Given the description of an element on the screen output the (x, y) to click on. 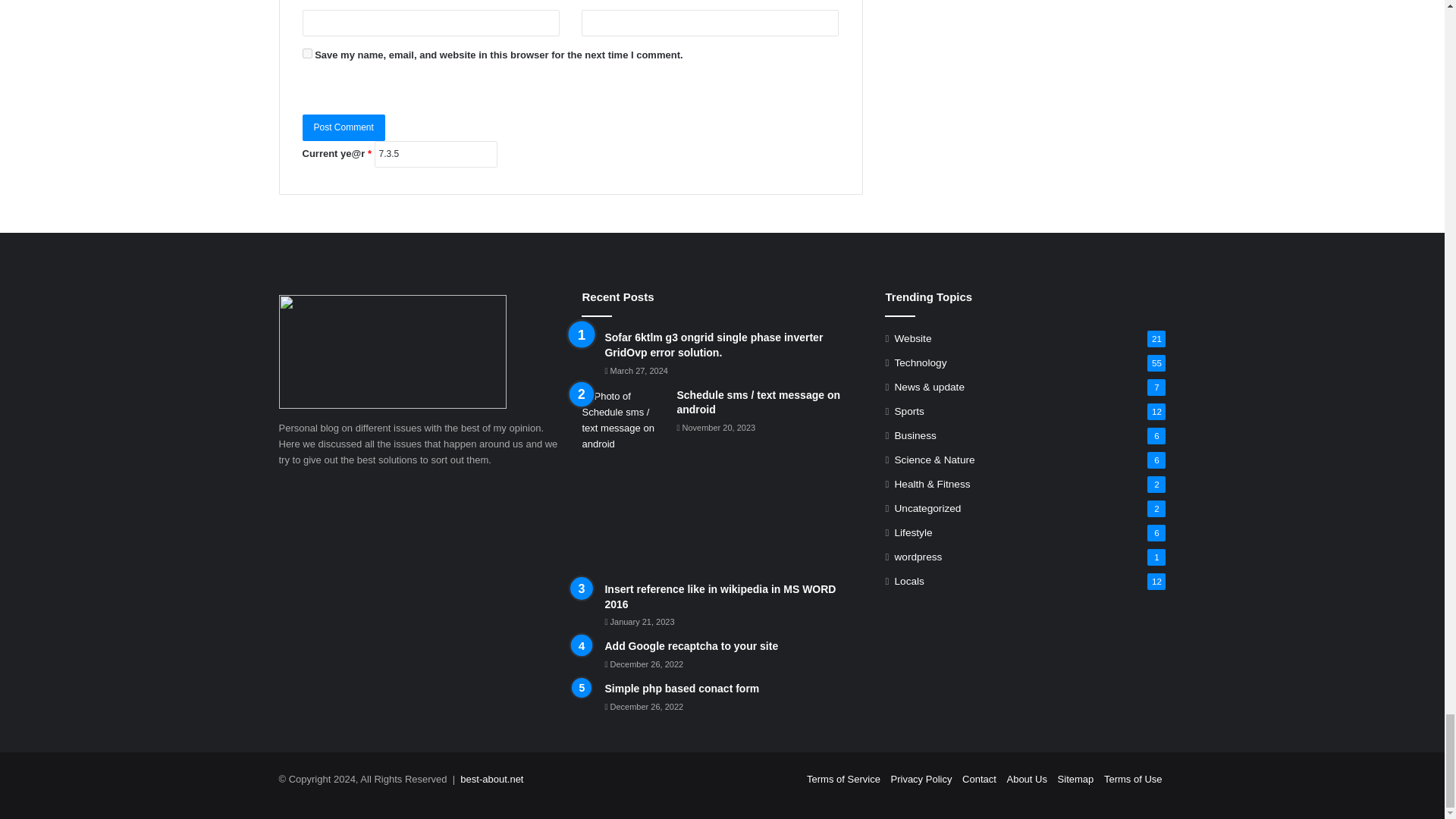
7.3.5 (435, 153)
yes (306, 53)
Post Comment (342, 127)
